Given the description of an element on the screen output the (x, y) to click on. 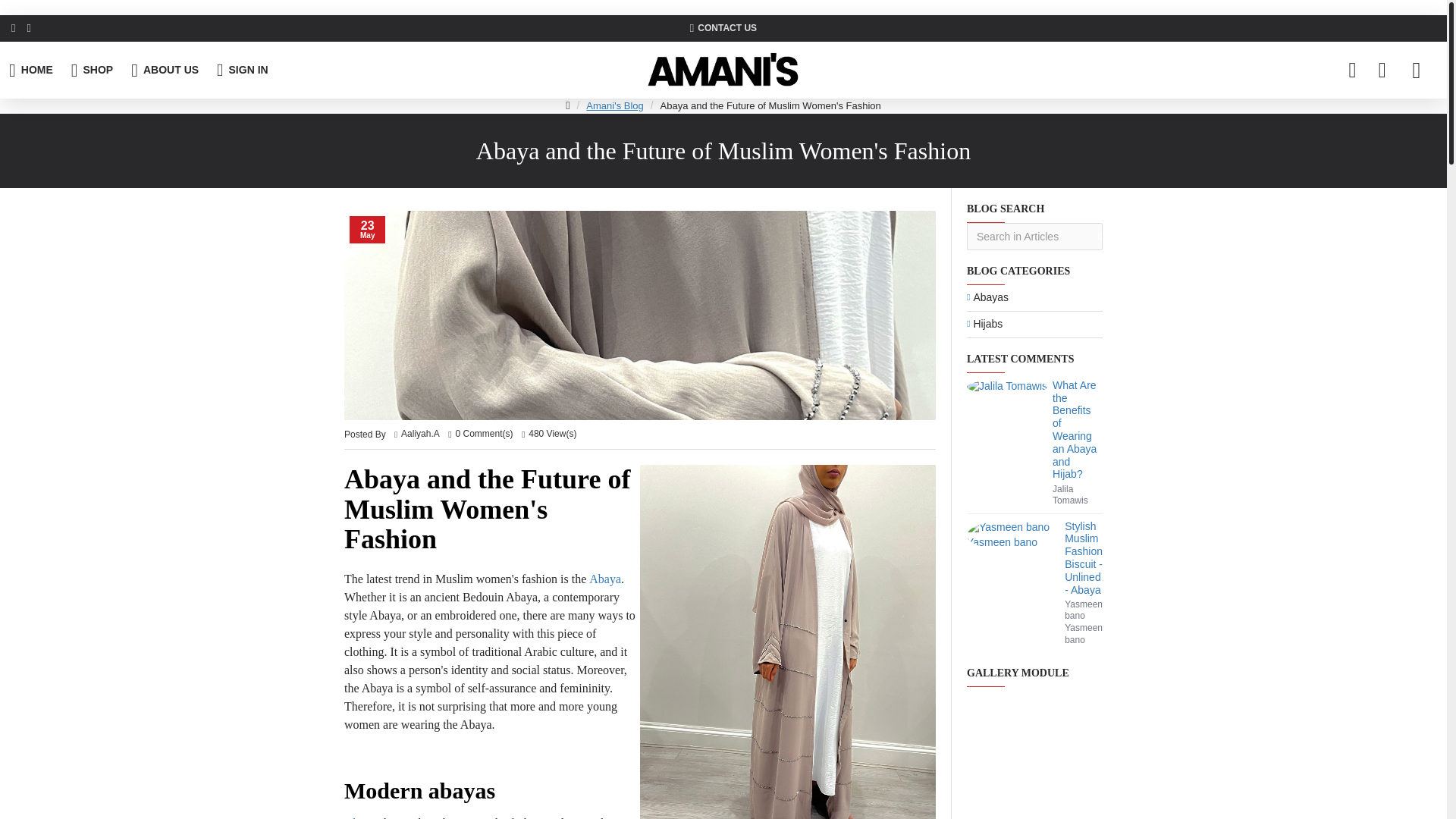
CONTACT US (722, 28)
HOME (31, 69)
Amani's Islamic Design House (723, 70)
SHOP (92, 69)
